Given the description of an element on the screen output the (x, y) to click on. 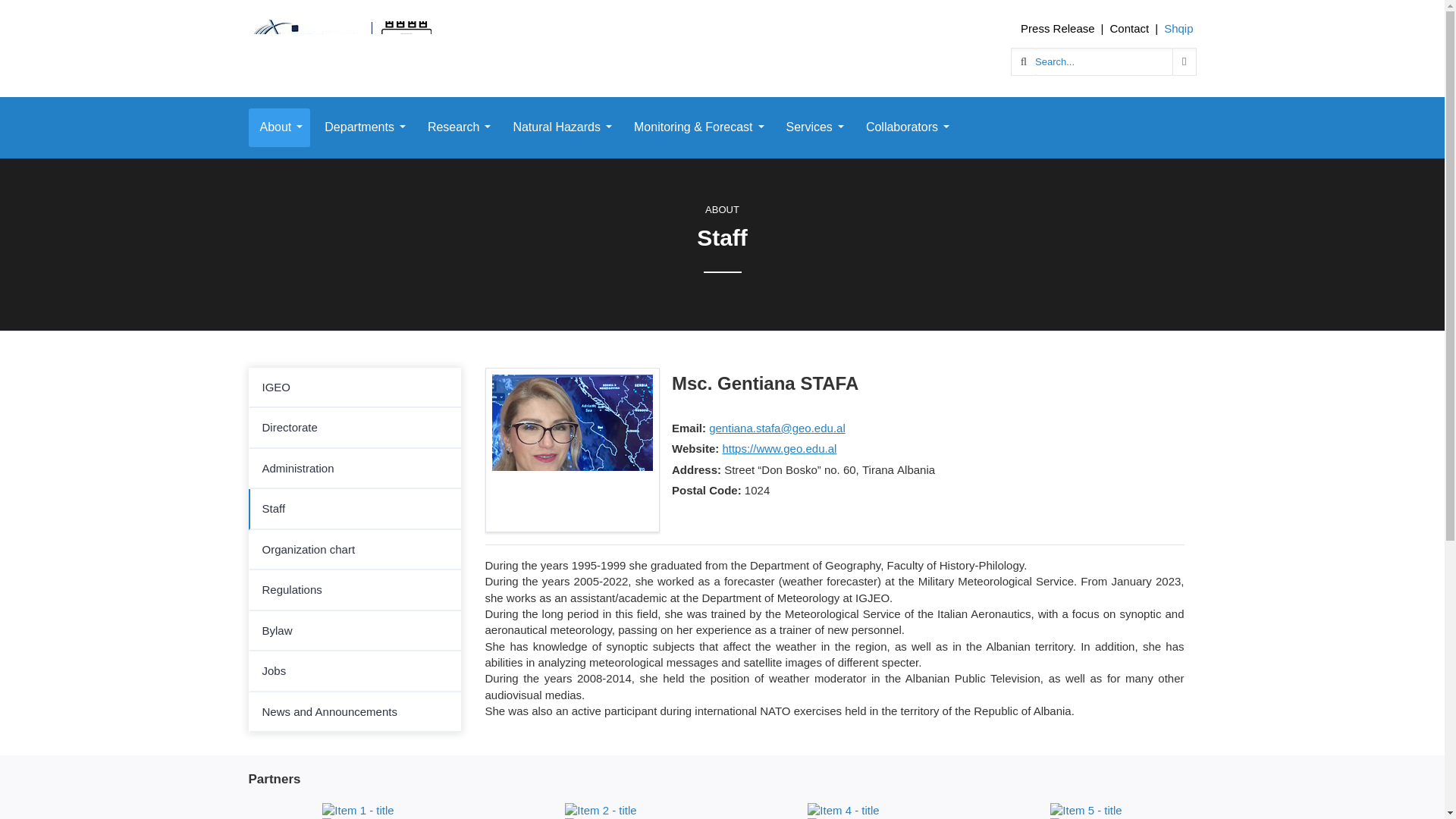
Press Release (1057, 28)
Item 2 - title (600, 808)
Shqip (1177, 28)
Item 4 - title (843, 808)
Item 1 - title (357, 808)
Item 5 - title (1085, 808)
Natural Hazards (560, 127)
Institute of GeoSciences (340, 47)
Research (456, 127)
Contact (1129, 28)
